Given the description of an element on the screen output the (x, y) to click on. 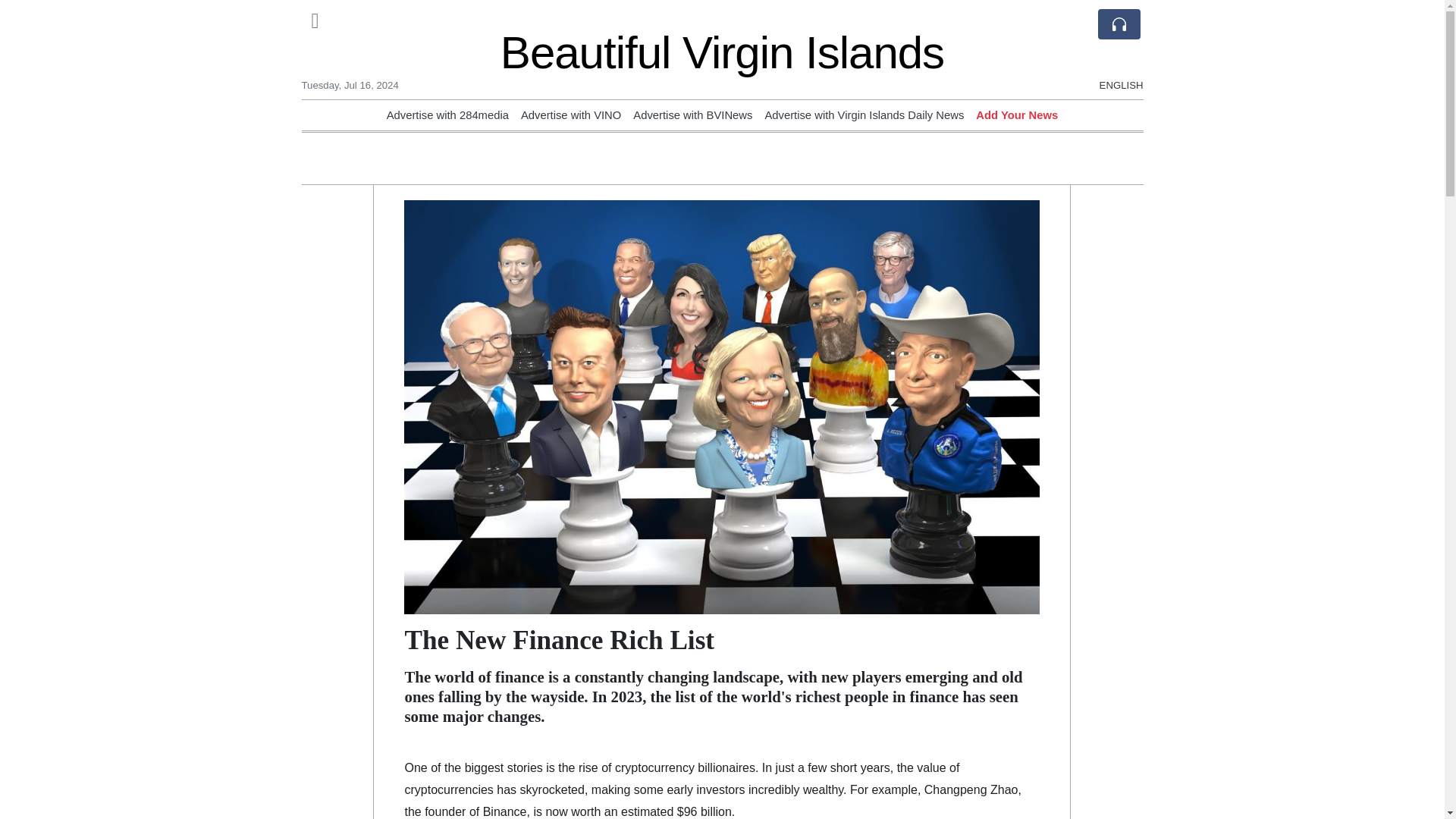
Advertise with 284media (447, 114)
ENGLISH (1120, 20)
Advertise with VINO (571, 114)
Add Your News (1016, 114)
Advertise with BVINews (692, 114)
Advertise with Virgin Islands Daily News (863, 114)
Beautiful Virgin Islands (721, 52)
